Given the description of an element on the screen output the (x, y) to click on. 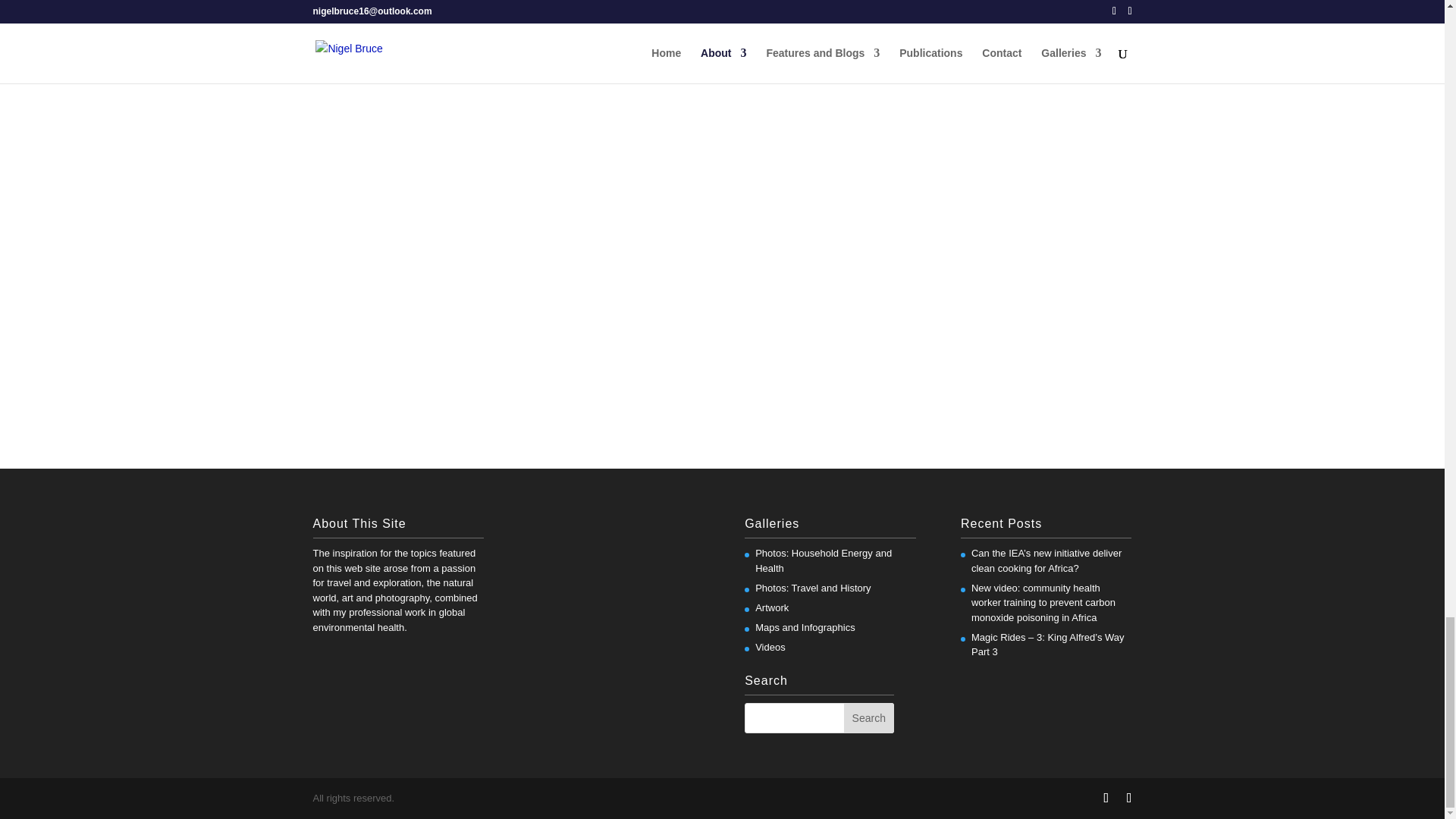
Videos (770, 646)
Artwork (772, 607)
Photos: Household Energy and Health (823, 560)
Maps and Infographics (805, 627)
Search (868, 716)
Photos: Travel and History (812, 587)
Search (868, 716)
